Given the description of an element on the screen output the (x, y) to click on. 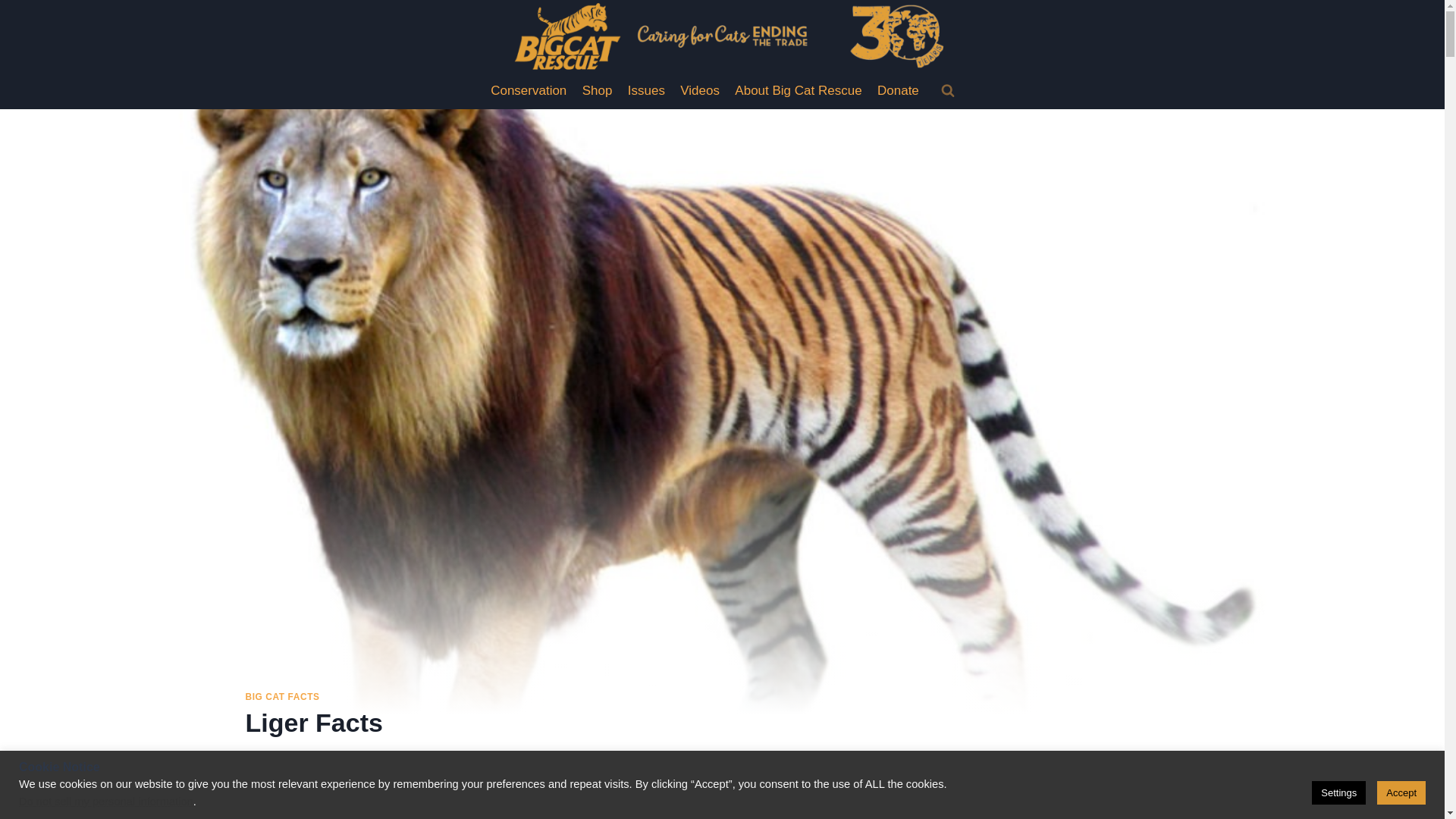
LIGER?!  What Is That? (722, 803)
Videos (699, 90)
44 Comments (366, 755)
Conservation (529, 90)
Issues (646, 90)
About Big Cat Rescue (797, 90)
BIG CAT FACTS (283, 696)
Donate (897, 90)
44 Comments (366, 755)
Shop (597, 90)
